Given the description of an element on the screen output the (x, y) to click on. 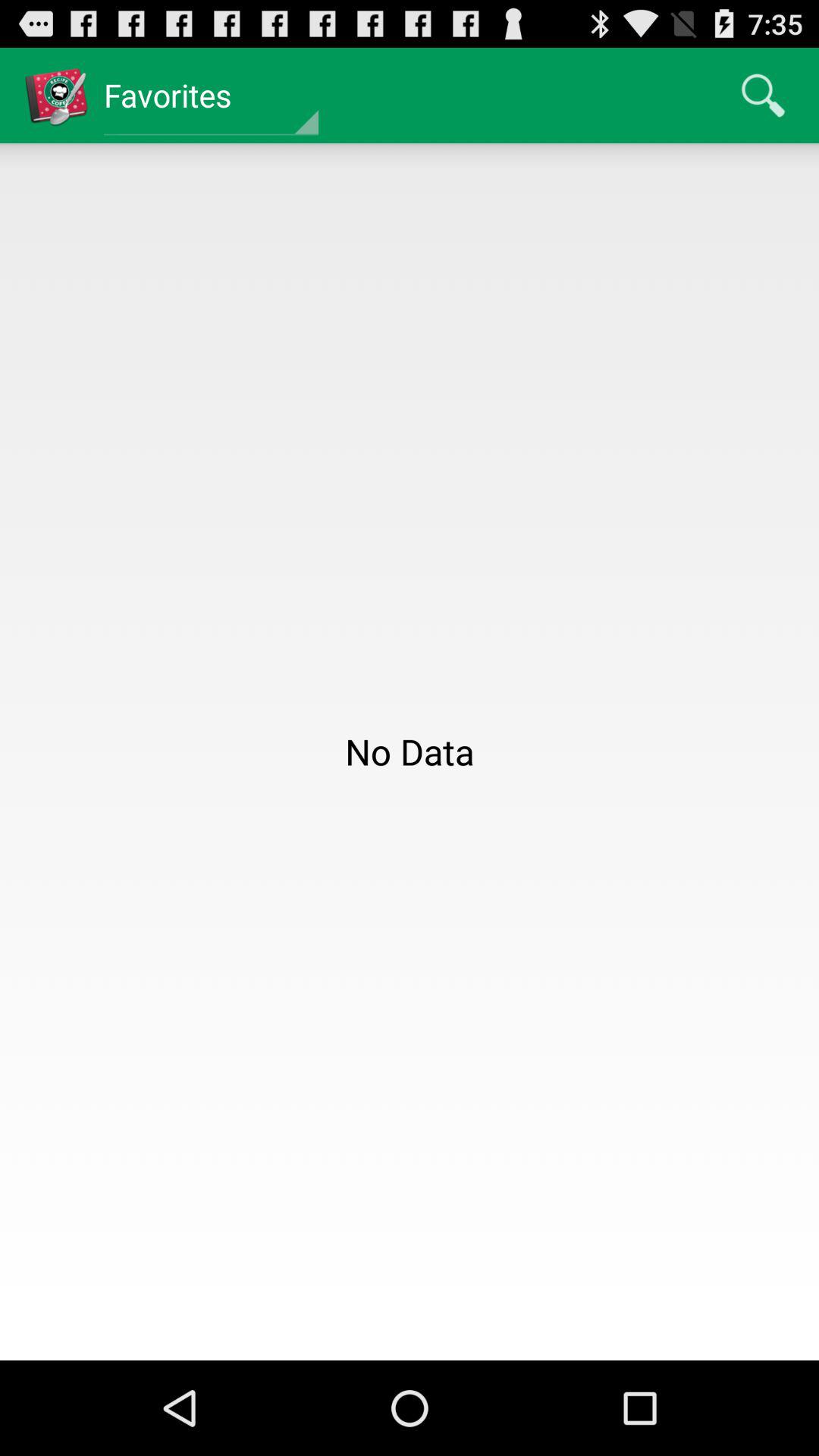
tap item at the top right corner (763, 95)
